Given the description of an element on the screen output the (x, y) to click on. 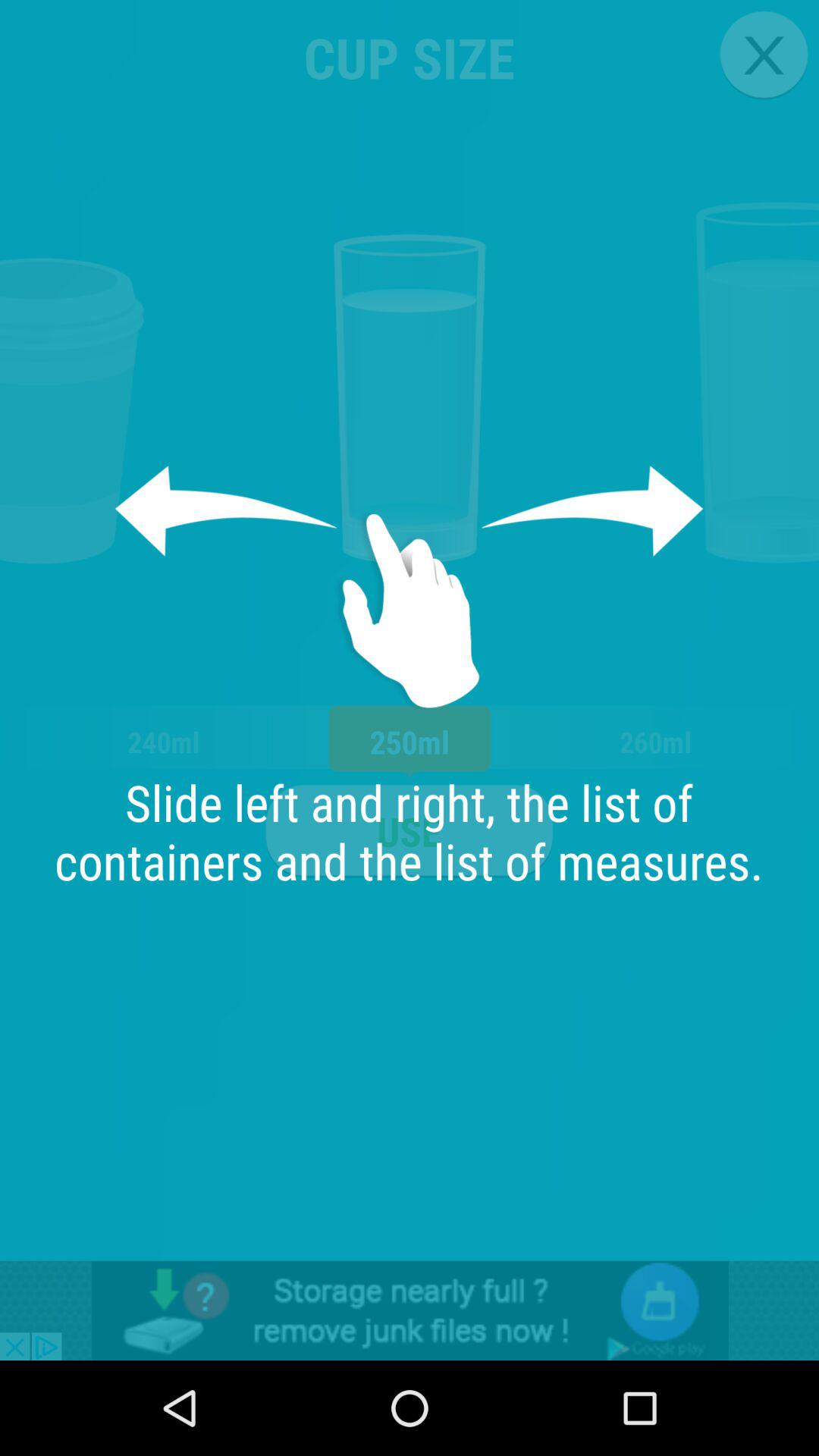
launch icon next to the 260ml icon (408, 830)
